Given the description of an element on the screen output the (x, y) to click on. 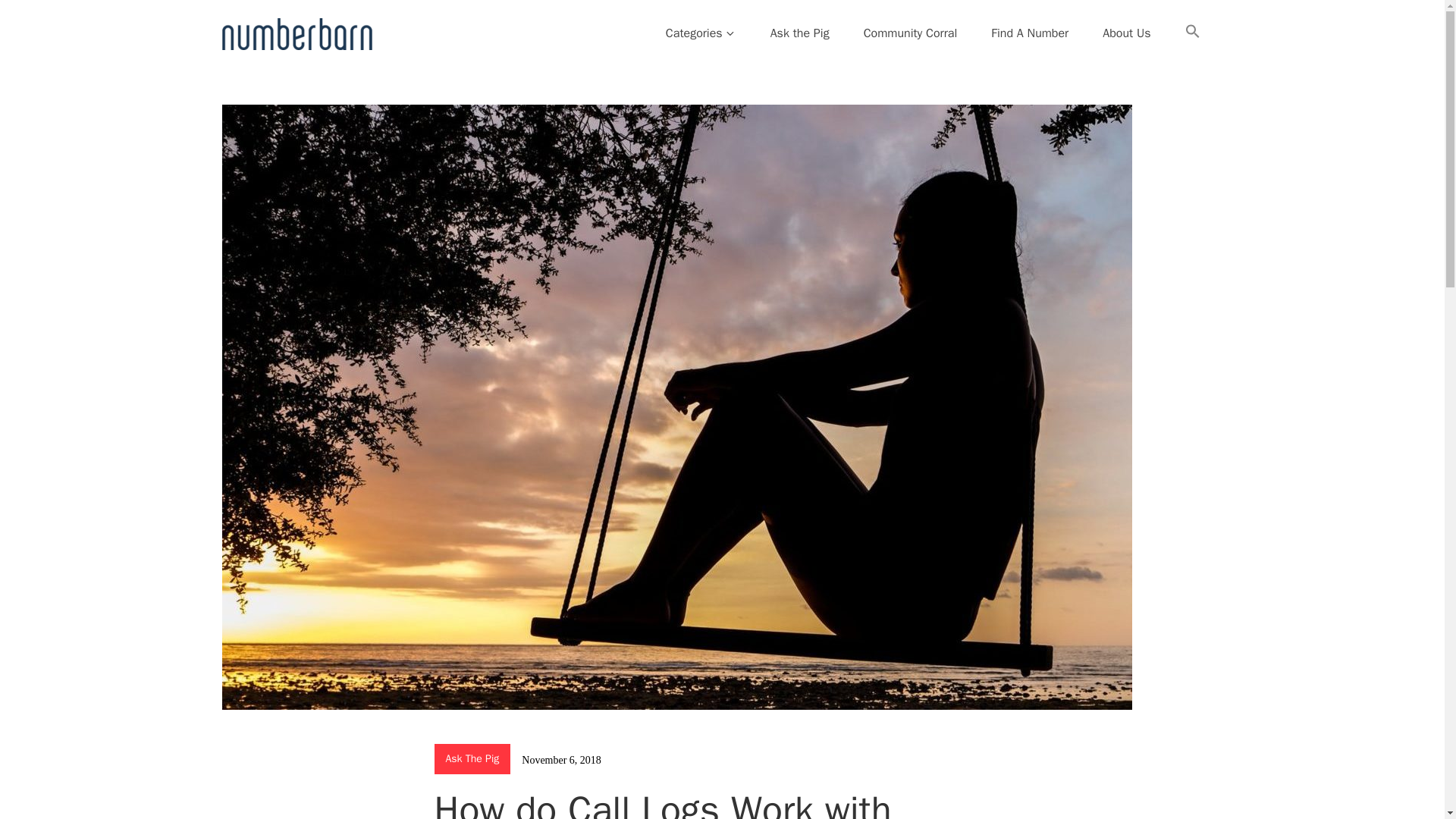
Ask The Pig (472, 758)
Find A Number (1029, 33)
November 6, 2018 (561, 759)
Ask the Pig (799, 33)
Categories (700, 33)
About Us (1125, 33)
NumberBarn Blog (313, 65)
Community Corral (910, 33)
